Given the description of an element on the screen output the (x, y) to click on. 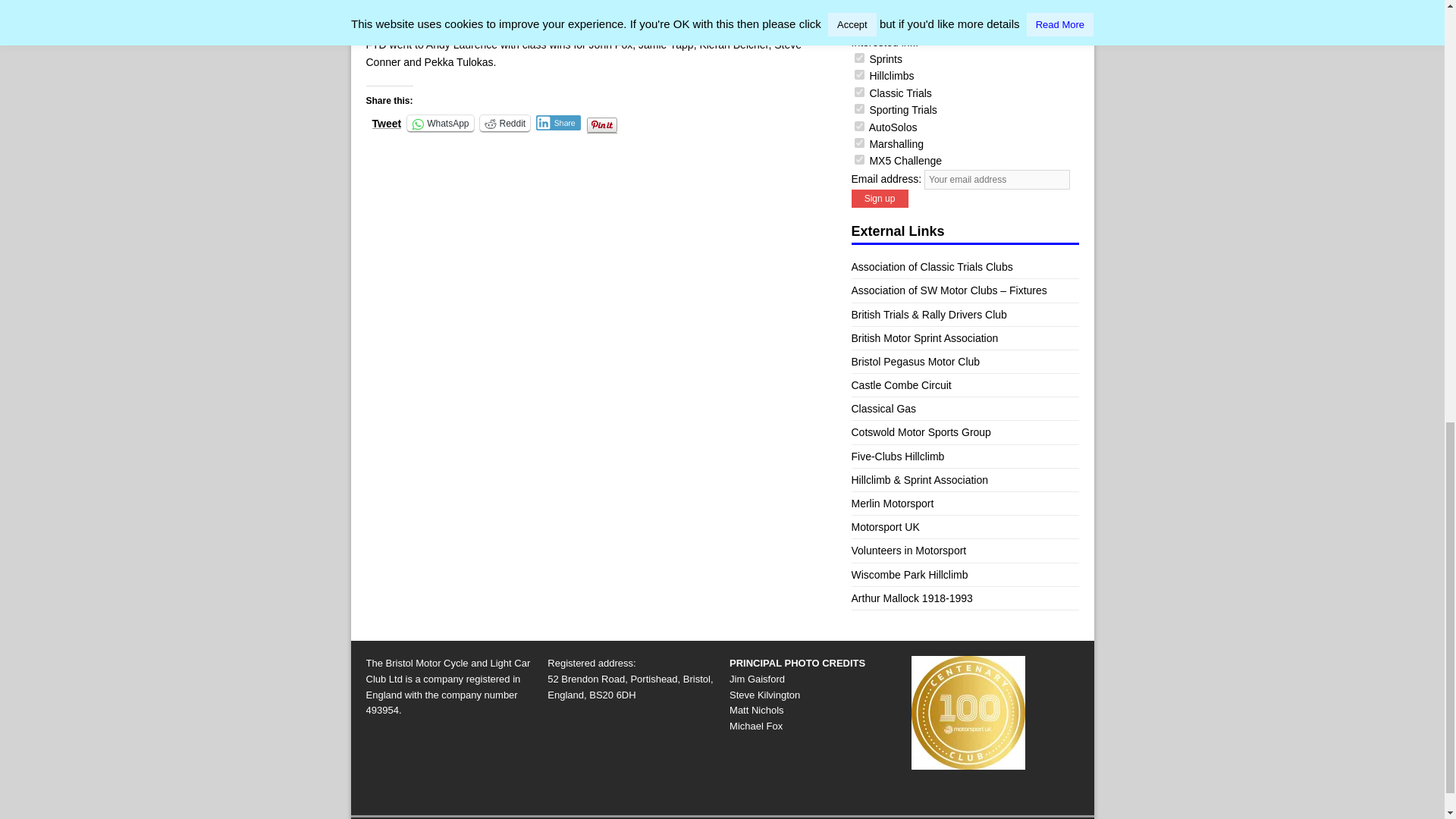
cb7f0d87b8 (858, 58)
66f313dd01 (858, 159)
d4f7bede38 (858, 108)
Click to share on WhatsApp (440, 123)
1b3ba9a616 (858, 91)
d5e759d779 (858, 74)
Click to share on Reddit (504, 123)
6f500b9921 (858, 126)
Sign up (878, 198)
bbf20dee36 (858, 143)
